Given the description of an element on the screen output the (x, y) to click on. 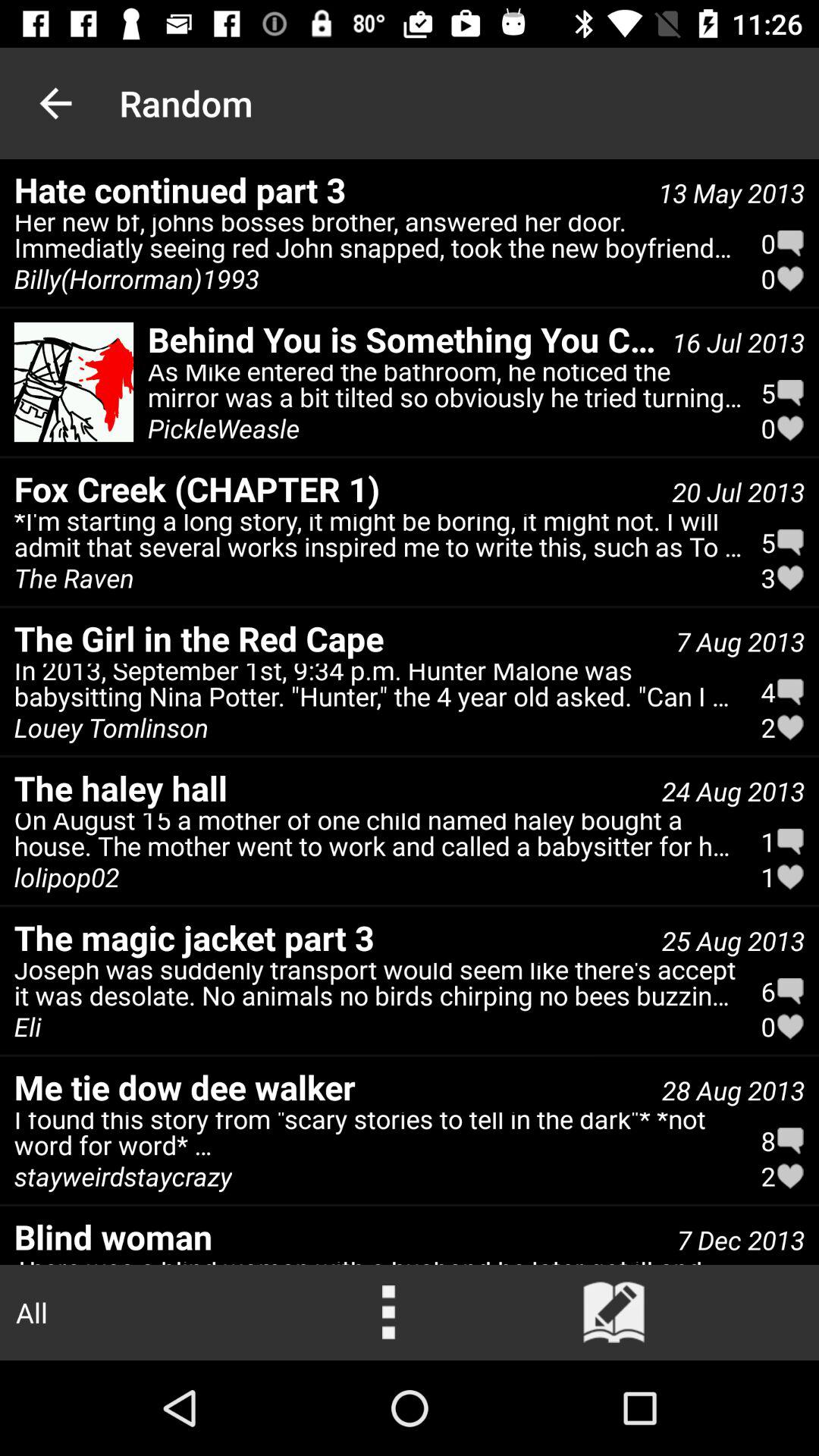
choose the item above the hate continued part (55, 103)
